Given the description of an element on the screen output the (x, y) to click on. 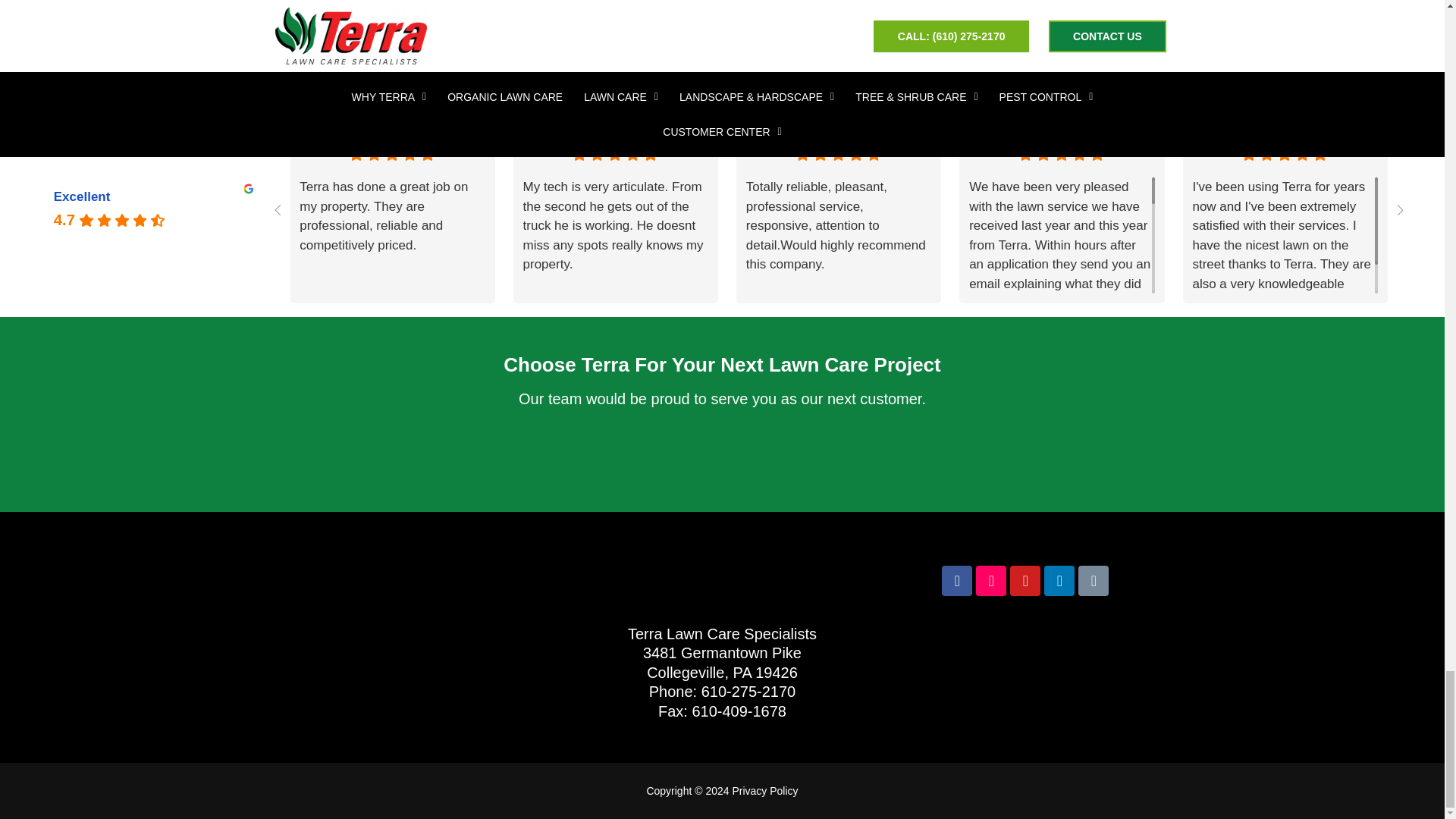
Marsha Zed (765, 144)
Thomas DePaul (319, 144)
Thomas DePaul (416, 135)
Lee Simpkins (989, 144)
Rick Casciello (542, 144)
